Given the description of an element on the screen output the (x, y) to click on. 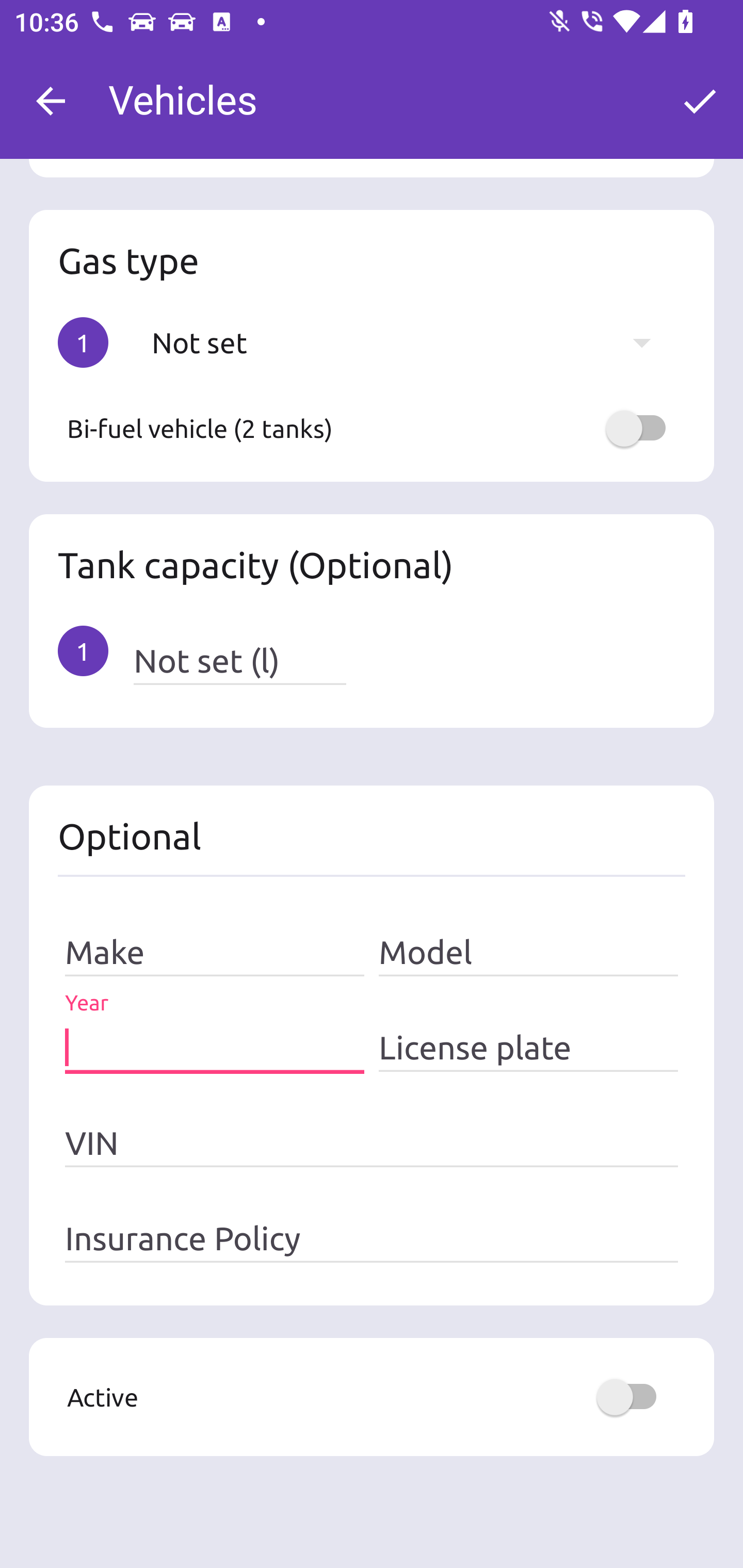
Navigate up (50, 101)
OK (699, 101)
Not set (411, 342)
Bi-fuel vehicle (2 tanks) (371, 428)
Not set (l) (239, 661)
Make (214, 952)
Model (528, 952)
Year (214, 1047)
License plate (528, 1047)
VIN (371, 1142)
Insurance Policy (371, 1238)
Active (371, 1397)
